Given the description of an element on the screen output the (x, y) to click on. 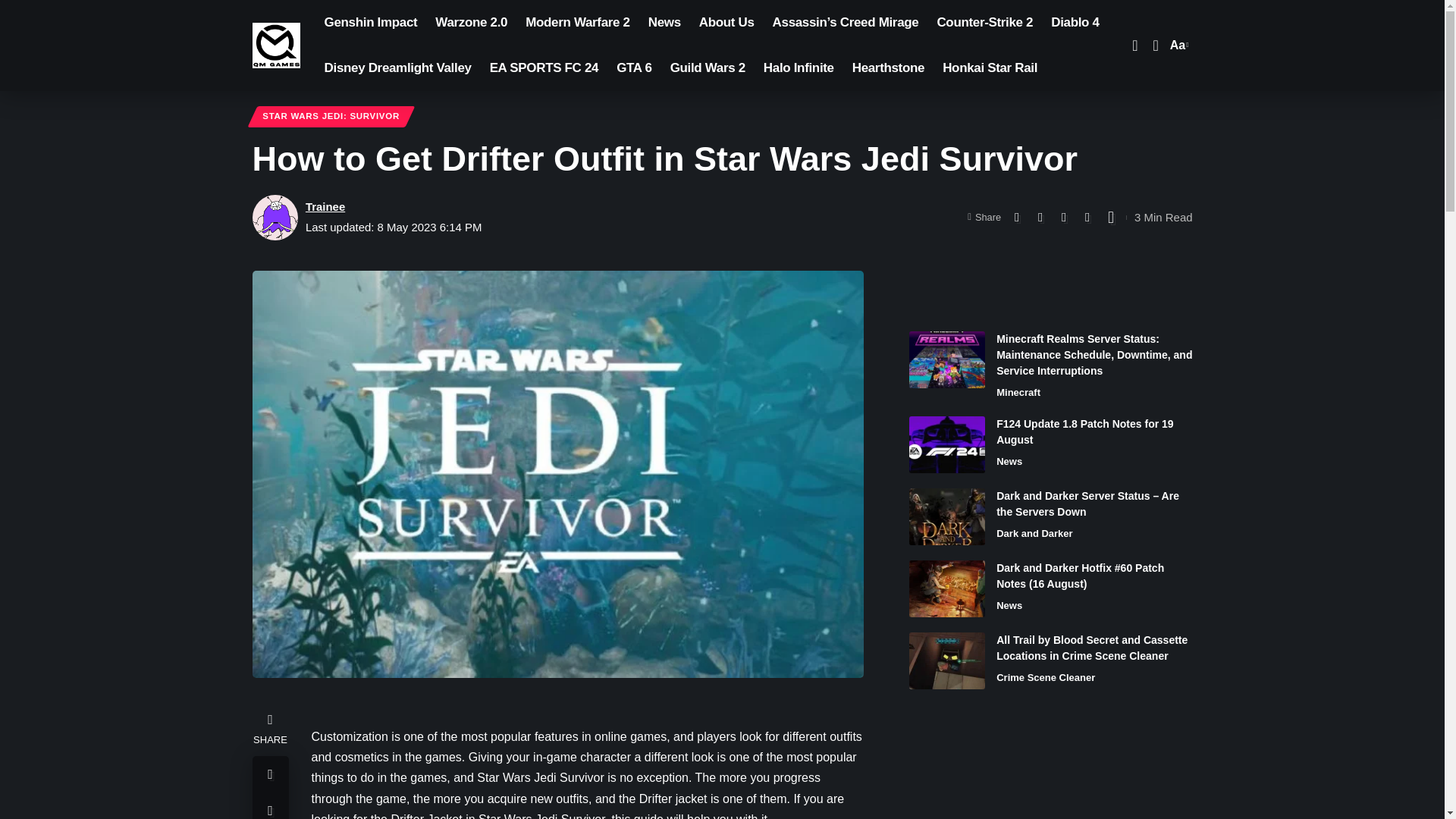
EA SPORTS FC 24 (544, 67)
QM Games (275, 44)
F124 Update 1.8 Patch Notes for 19 August (946, 444)
Genshin Impact (370, 22)
News (664, 22)
Counter-Strike 2 (984, 22)
About Us (726, 22)
Trainee (325, 206)
GTA 6 (634, 67)
Honkai Star Rail (989, 67)
